Given the description of an element on the screen output the (x, y) to click on. 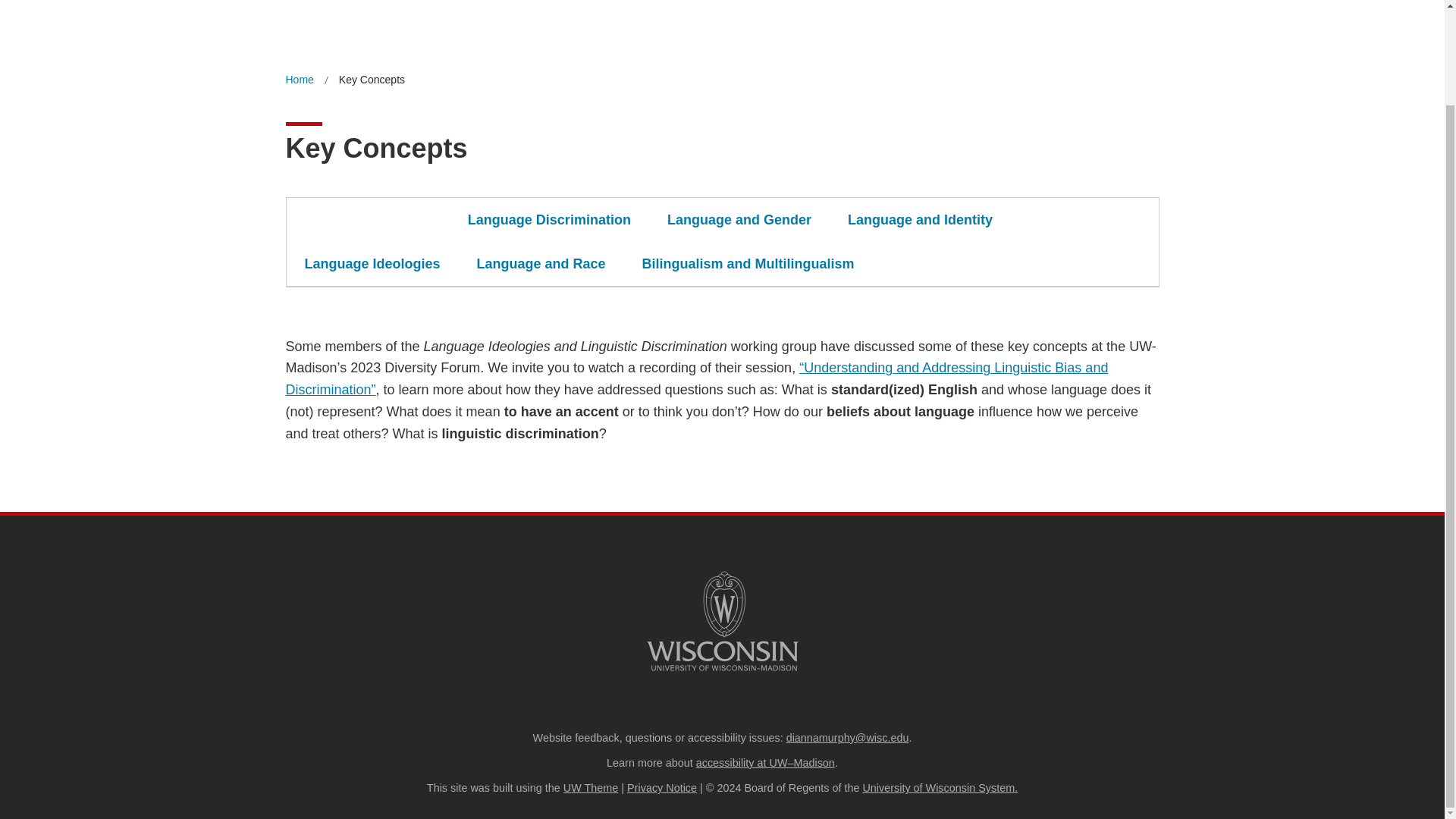
Key Concepts (371, 79)
Bilingualism and Multilingualism (748, 263)
Language Attitudes (367, 219)
Home (299, 79)
UW Theme (590, 787)
Privacy Notice (662, 787)
Key Concepts (371, 79)
Language and Identity (919, 219)
Language Discrimination (549, 219)
Home (299, 79)
University logo that links to main university website (721, 621)
Language and Gender (739, 219)
Language Ideologies (372, 263)
University logo that links to main university website (721, 673)
University of Wisconsin System. (939, 787)
